Given the description of an element on the screen output the (x, y) to click on. 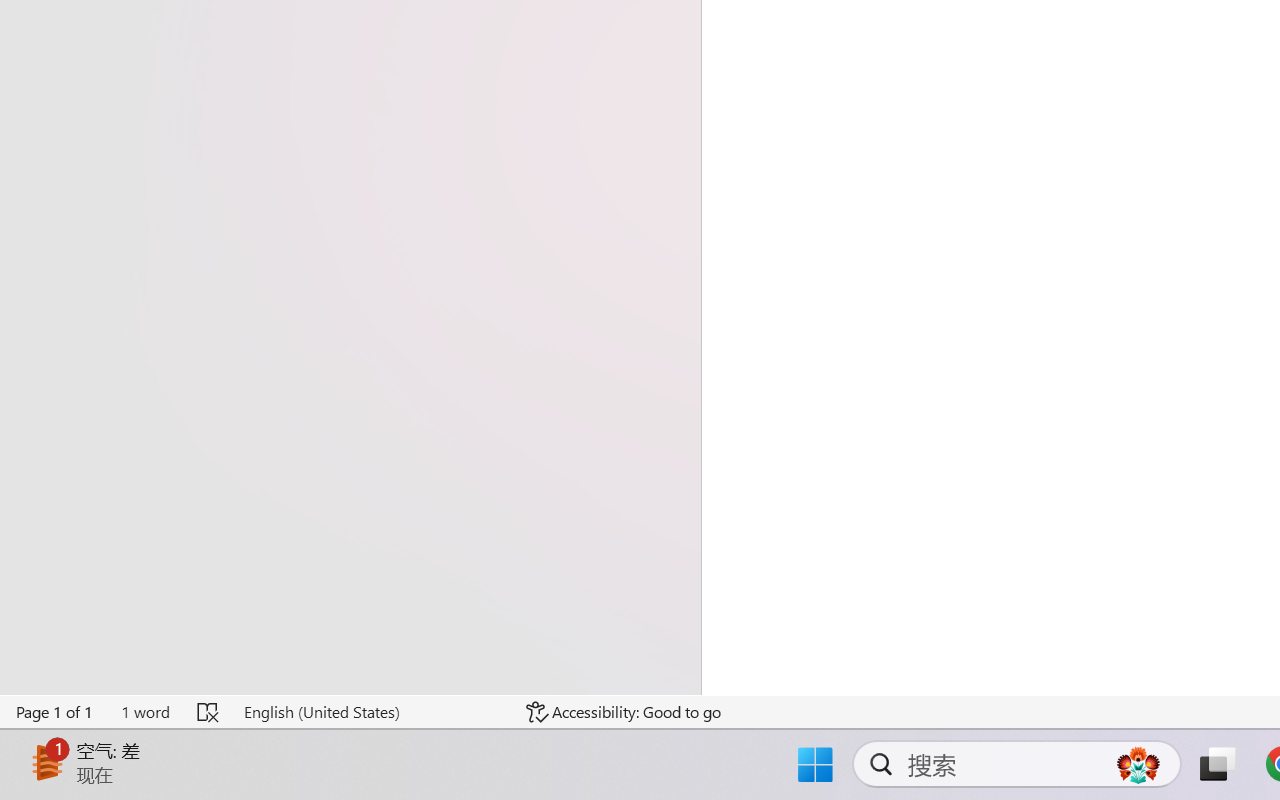
Spelling and Grammar Check Errors (208, 712)
